Given the description of an element on the screen output the (x, y) to click on. 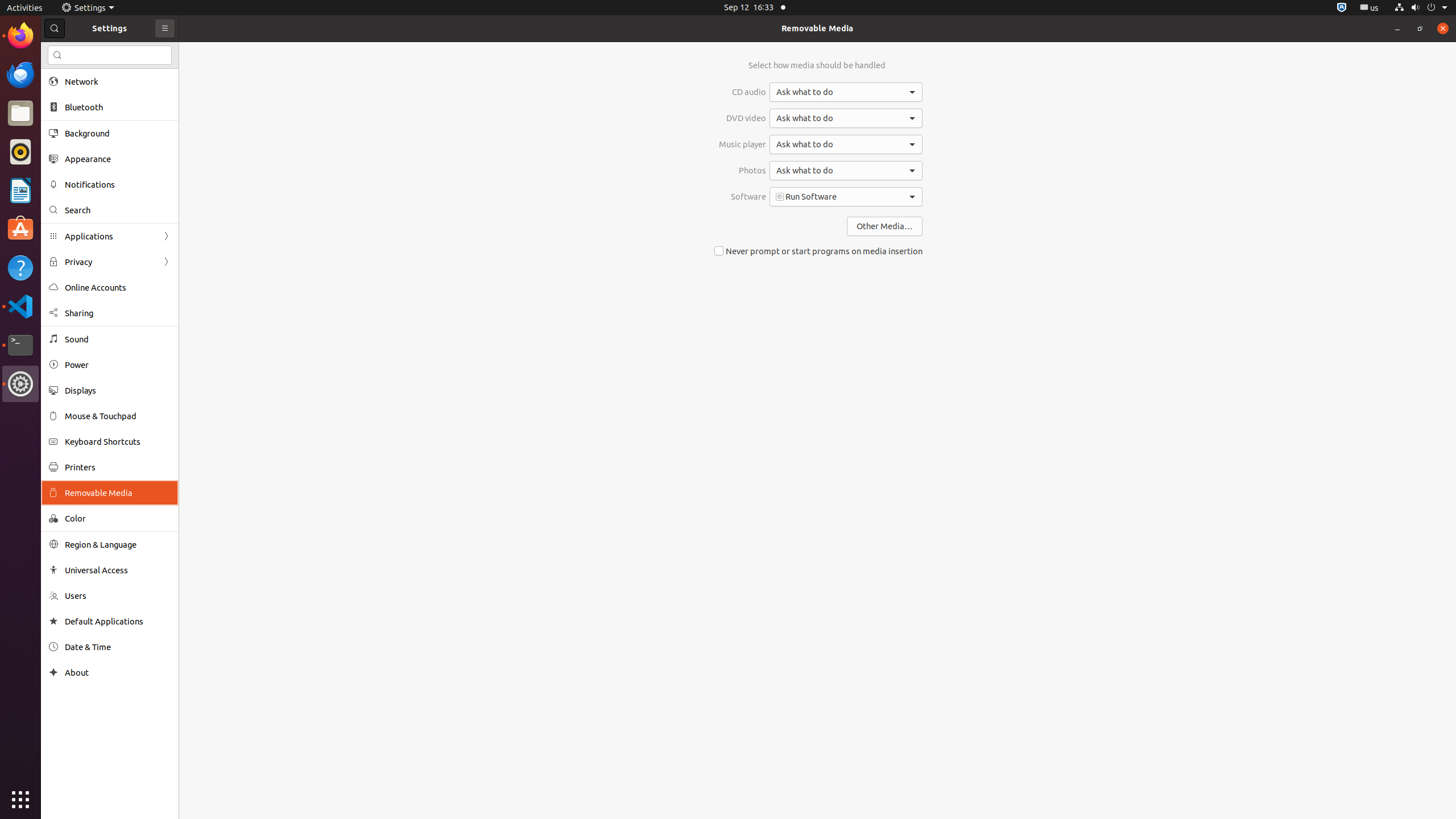
cc-item-ask Element type: combo-box (845, 91)
Other Media… Element type: push-button (884, 226)
Date & Time Element type: label (117, 646)
